Given the description of an element on the screen output the (x, y) to click on. 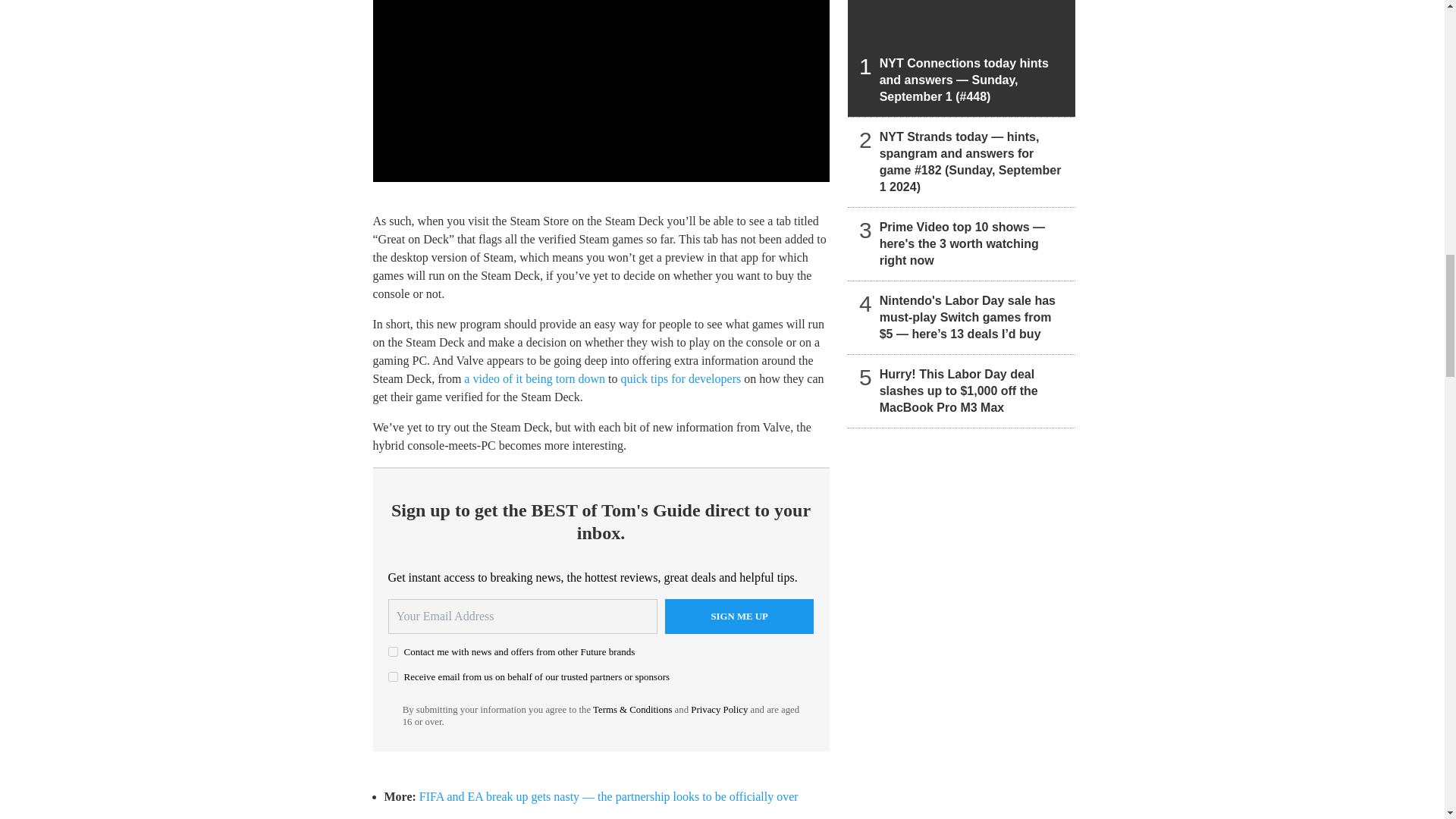
Sign me up (739, 615)
on (392, 676)
on (392, 651)
